Given the description of an element on the screen output the (x, y) to click on. 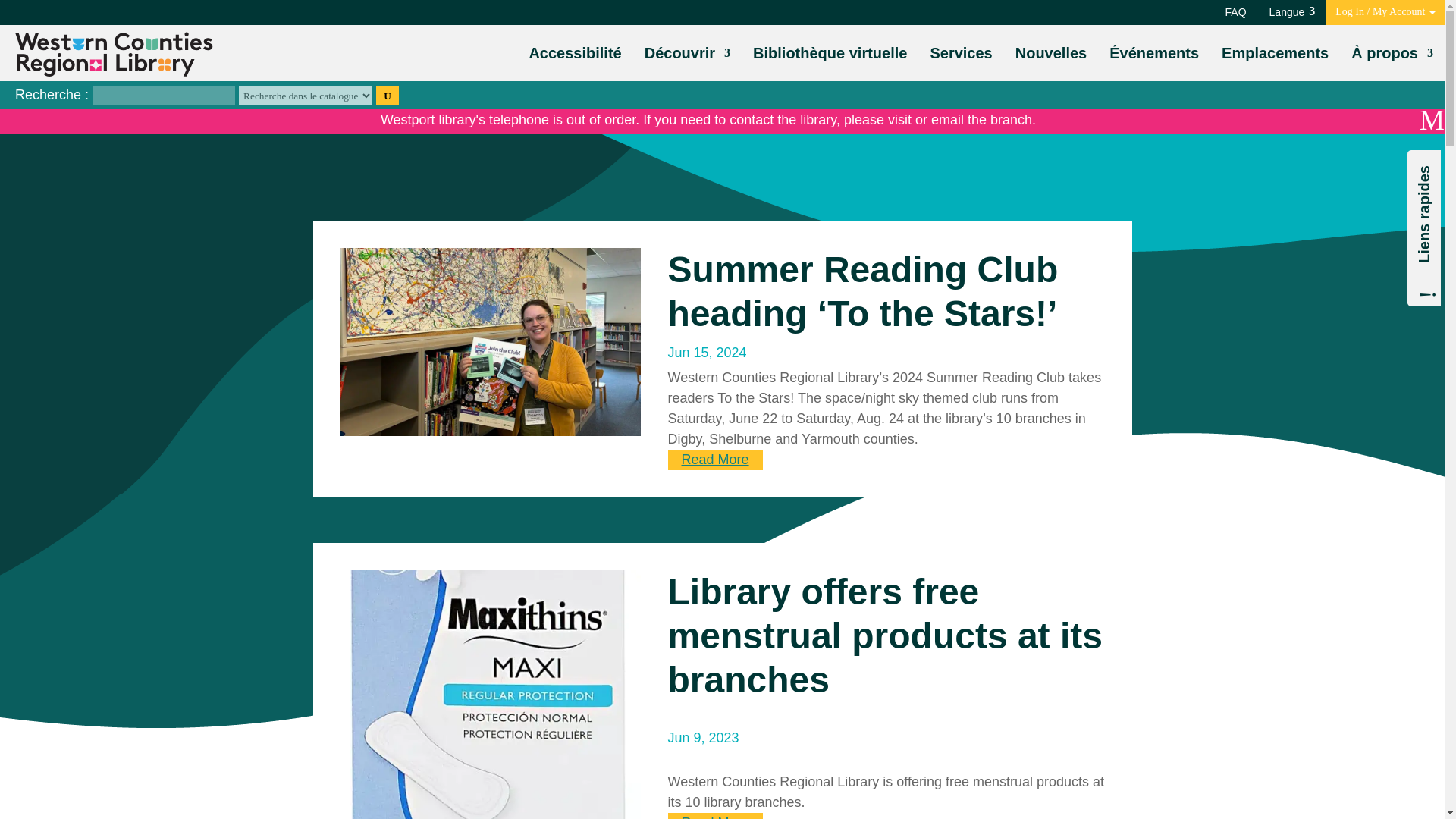
Langue (1292, 12)
FAQ (1235, 12)
Services (960, 53)
Nouvelles (1050, 53)
